Given the description of an element on the screen output the (x, y) to click on. 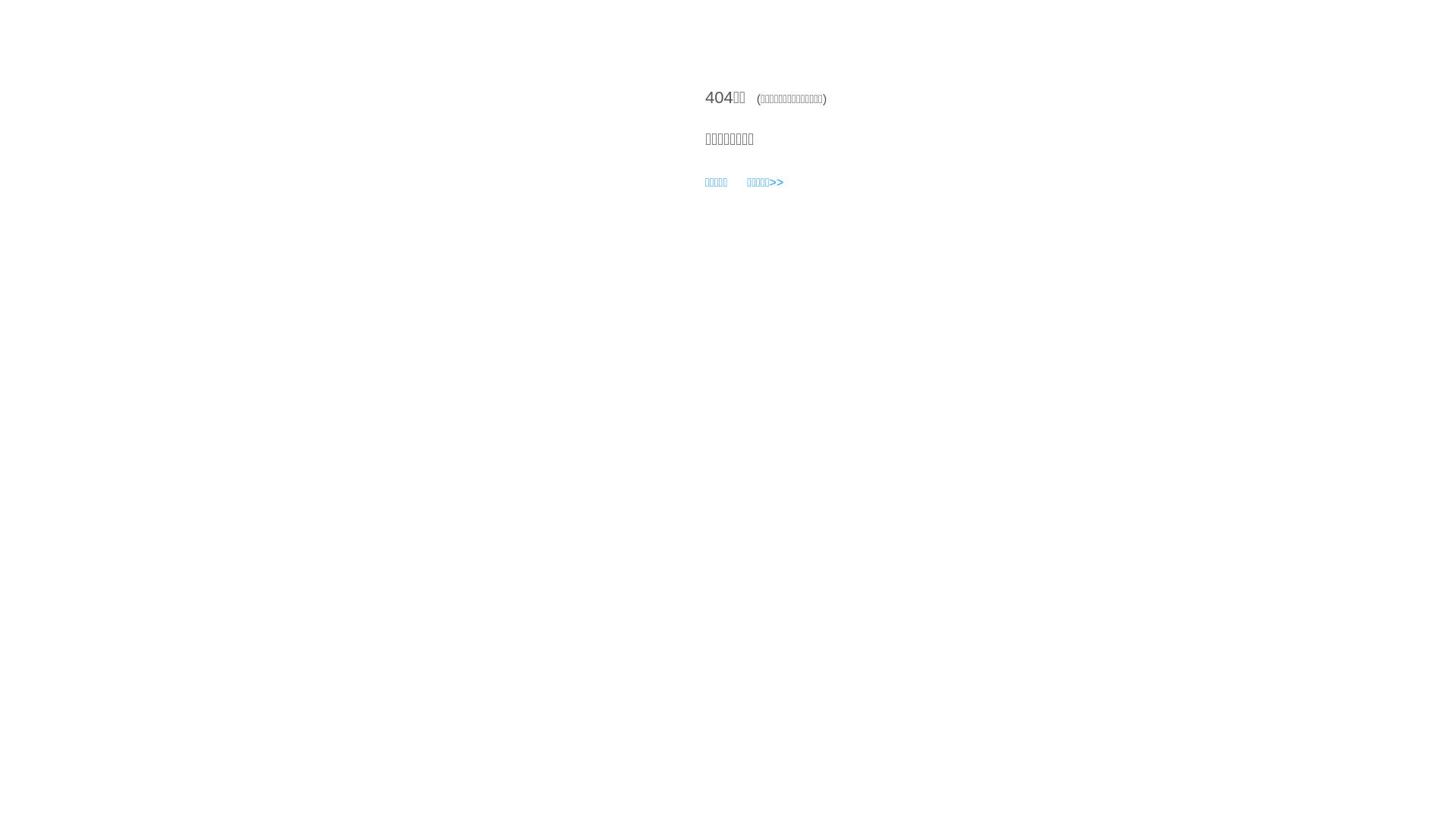
404 Element type: text (719, 96)
